Given the description of an element on the screen output the (x, y) to click on. 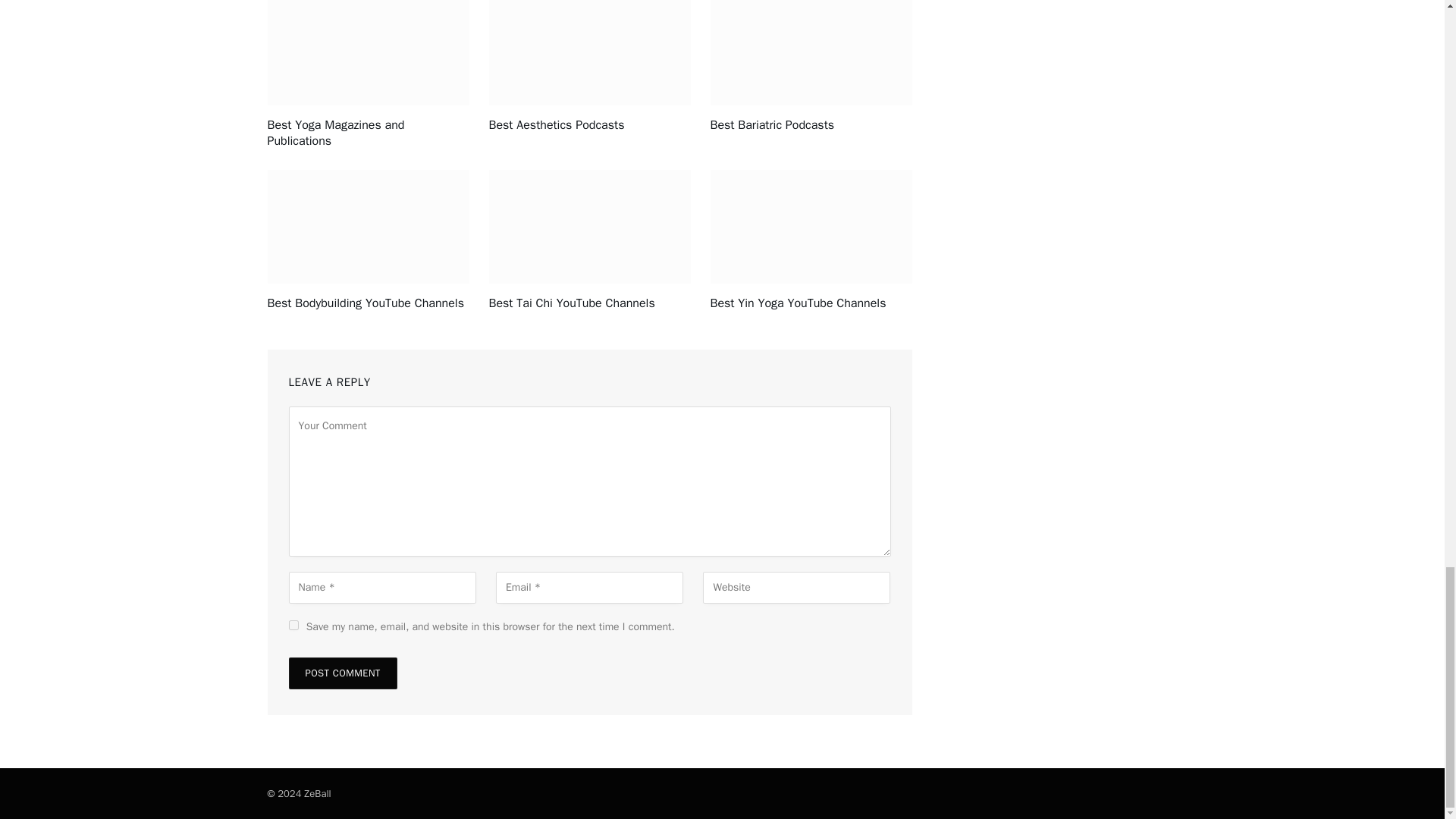
Post Comment (342, 673)
yes (293, 624)
